Given the description of an element on the screen output the (x, y) to click on. 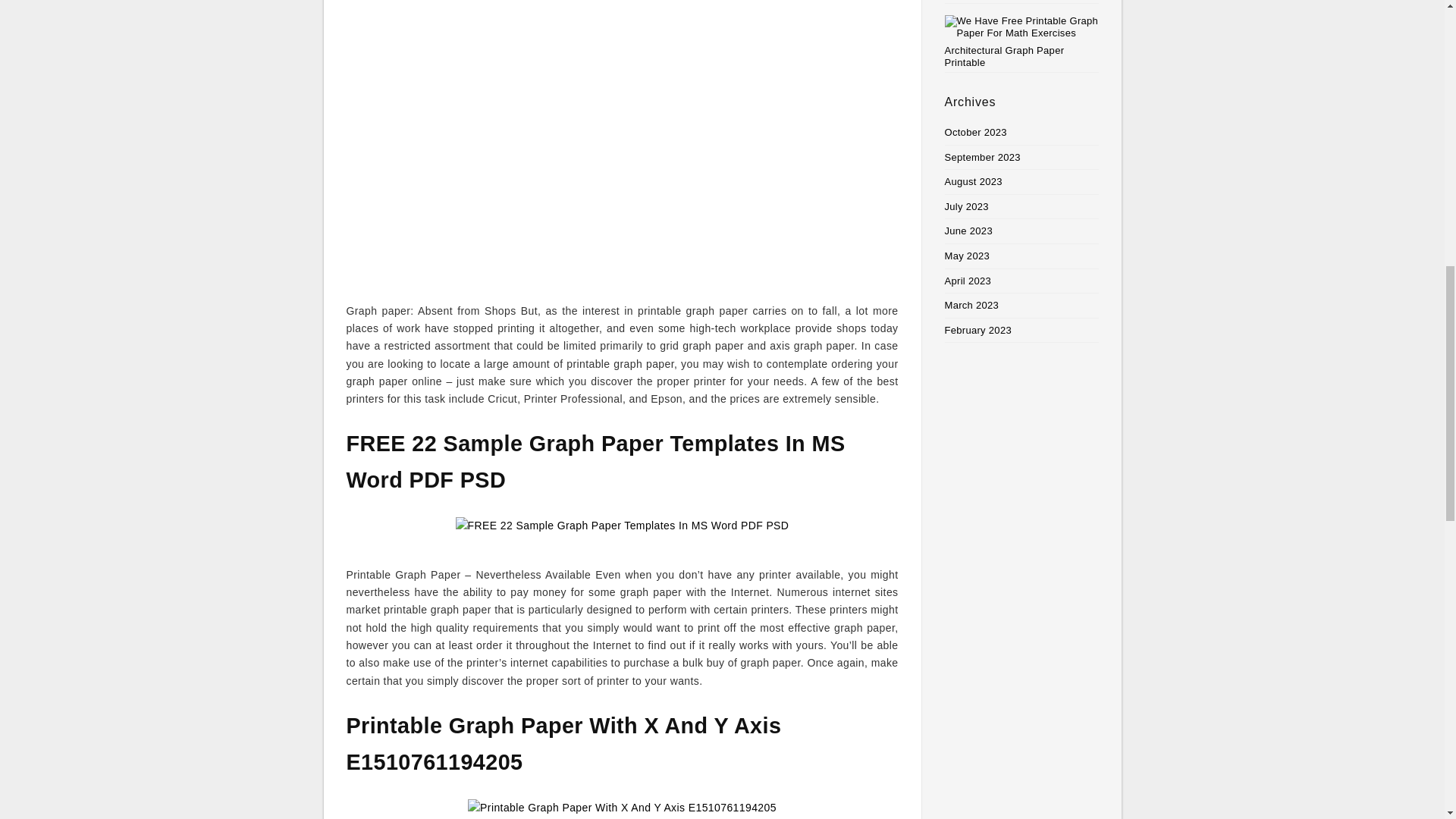
printable graph paper with x and y axis e1510761194205 (621, 809)
free 22 sample graph paper templates in ms word pdf psd 7 (622, 532)
